Given the description of an element on the screen output the (x, y) to click on. 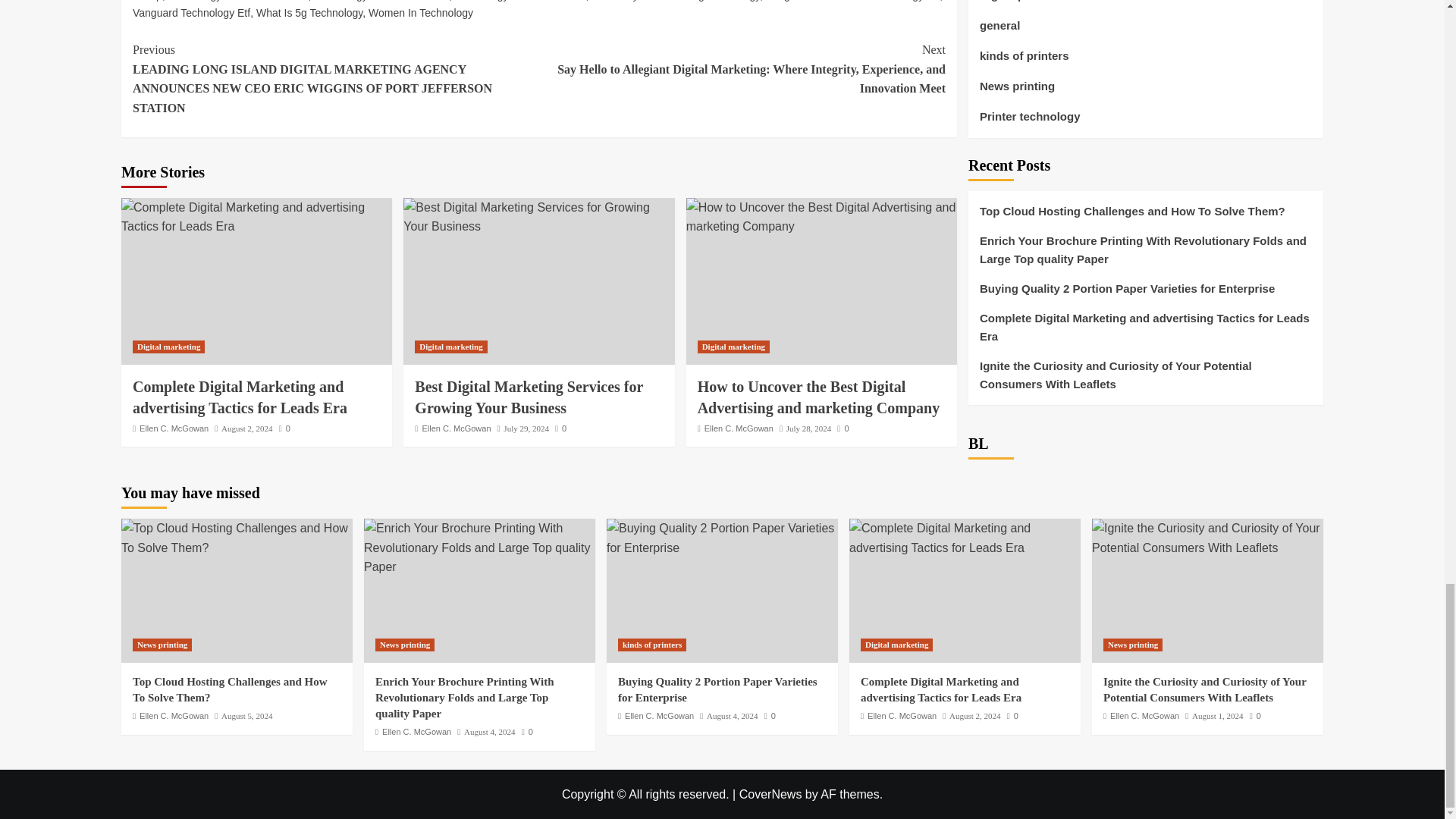
Buying Quality 2 Portion Paper Varieties for Enterprise (722, 537)
Best Digital Marketing Services for Growing Your Business (538, 217)
